Given the description of an element on the screen output the (x, y) to click on. 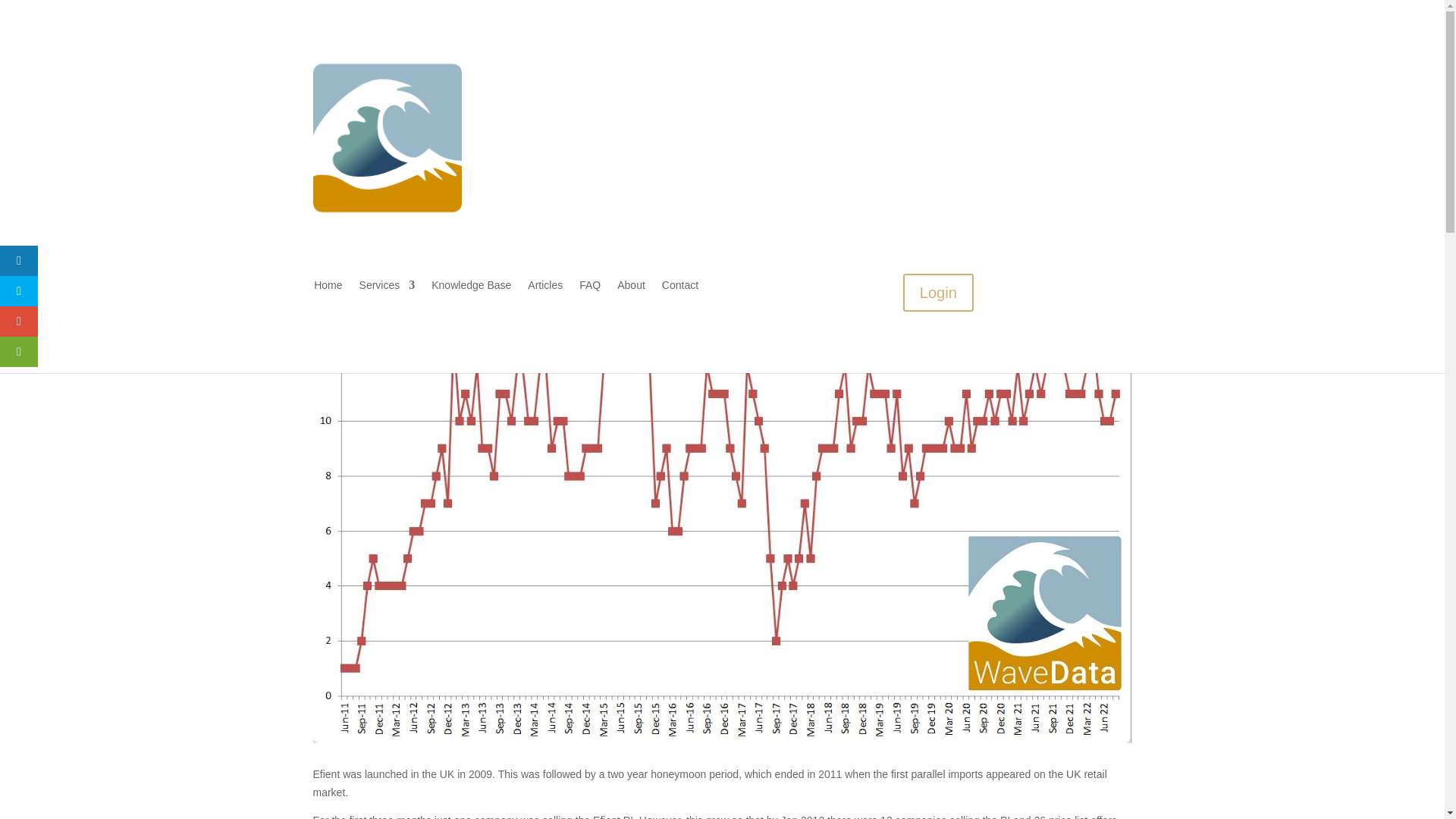
UK Brands (489, 199)
About (791, 80)
Parallel Imports (421, 199)
FAQ (589, 288)
Services (683, 57)
Knowledge Base (766, 57)
Knowledge Base (470, 288)
Services (386, 288)
Contact (680, 288)
